Given the description of an element on the screen output the (x, y) to click on. 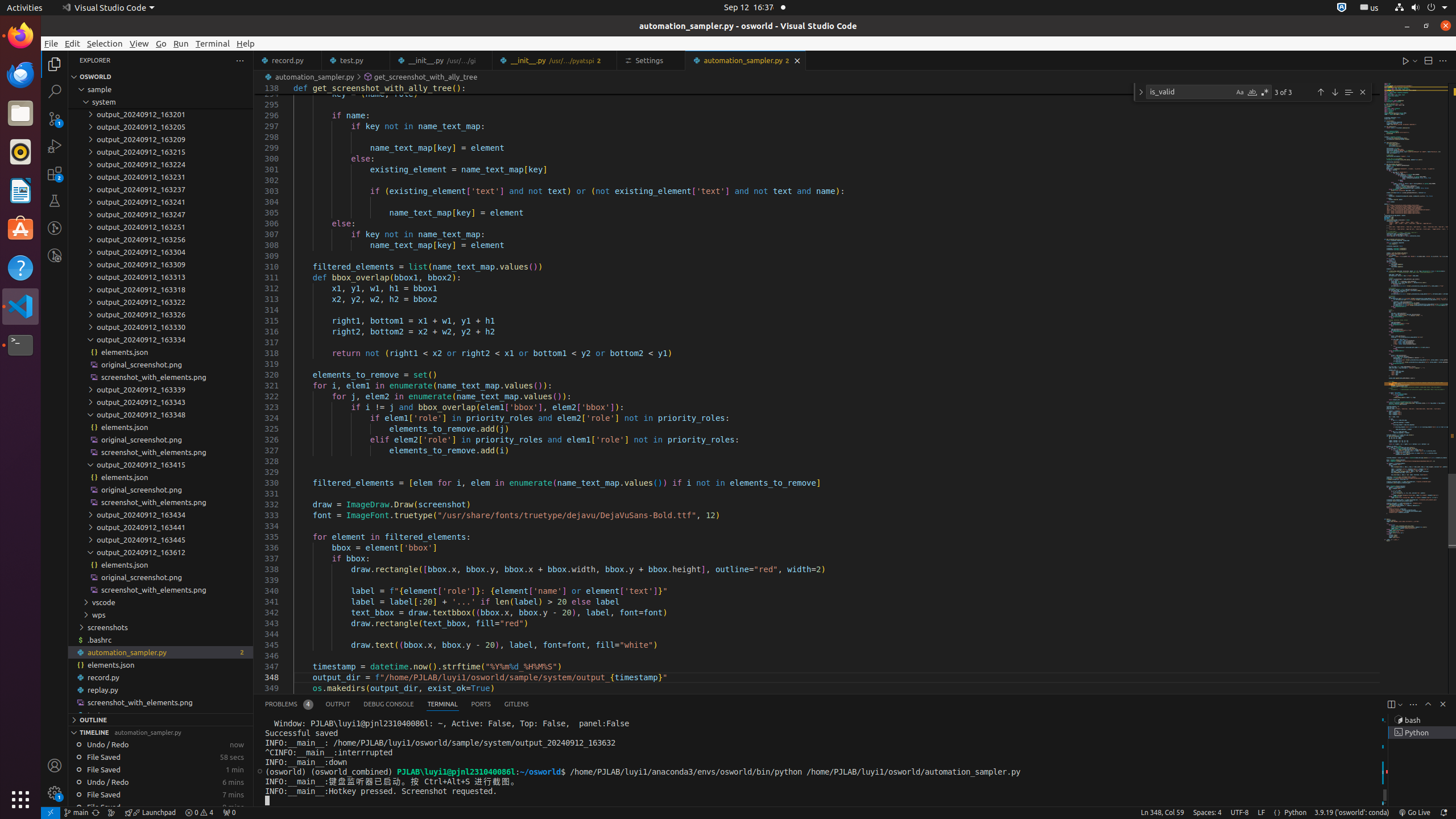
OSWorld (Git) - Synchronize Changes Element type: push-button (95, 812)
Run Element type: push-button (181, 43)
Problems (Ctrl+Shift+M) - Total 4 Problems Element type: page-tab (288, 704)
vscode Element type: tree-item (160, 602)
